Given the description of an element on the screen output the (x, y) to click on. 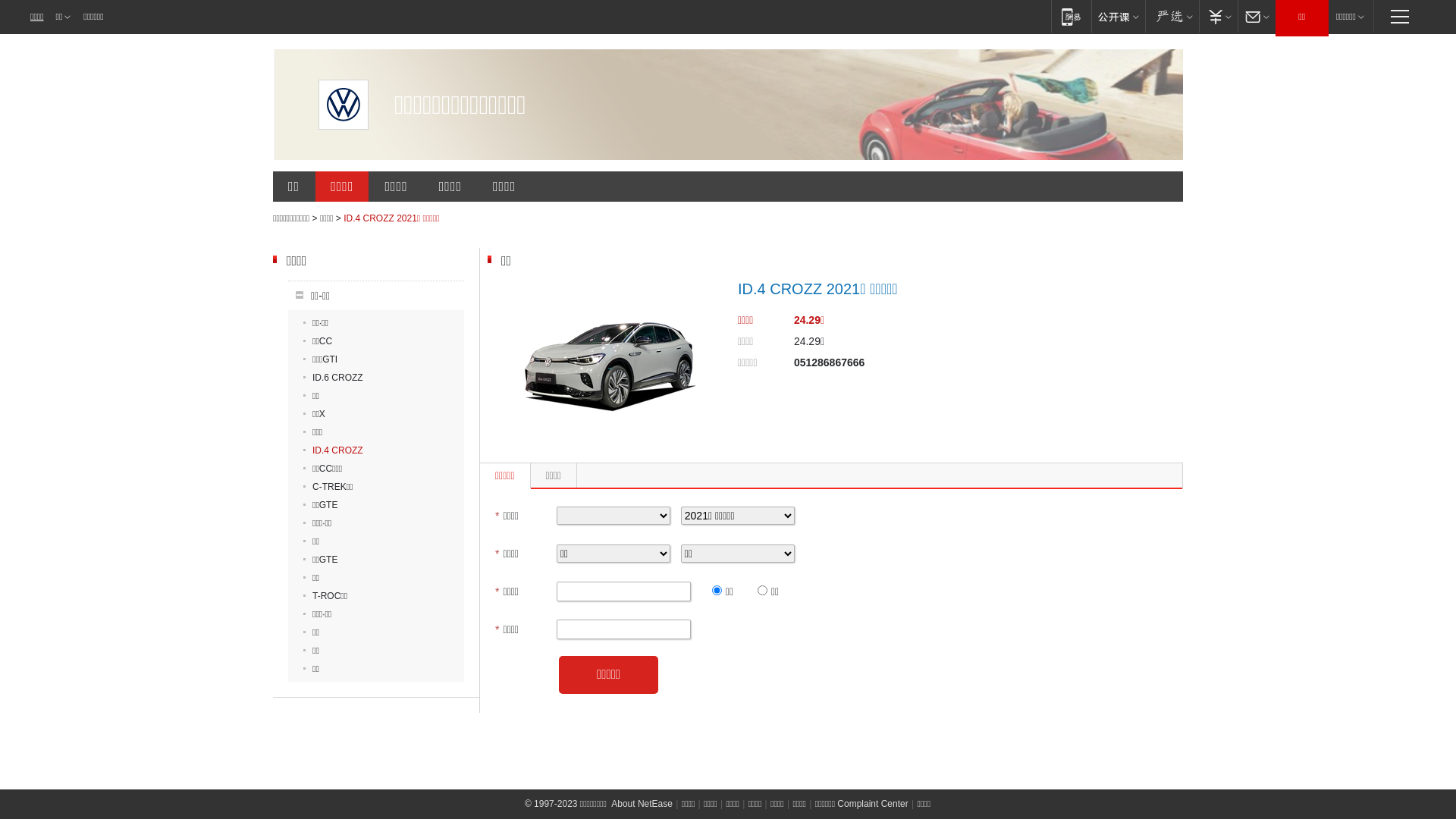
ID.4 CROZZ Element type: text (333, 450)
About NetEase Element type: text (641, 803)
ID.6 CROZZ Element type: text (333, 377)
